Given the description of an element on the screen output the (x, y) to click on. 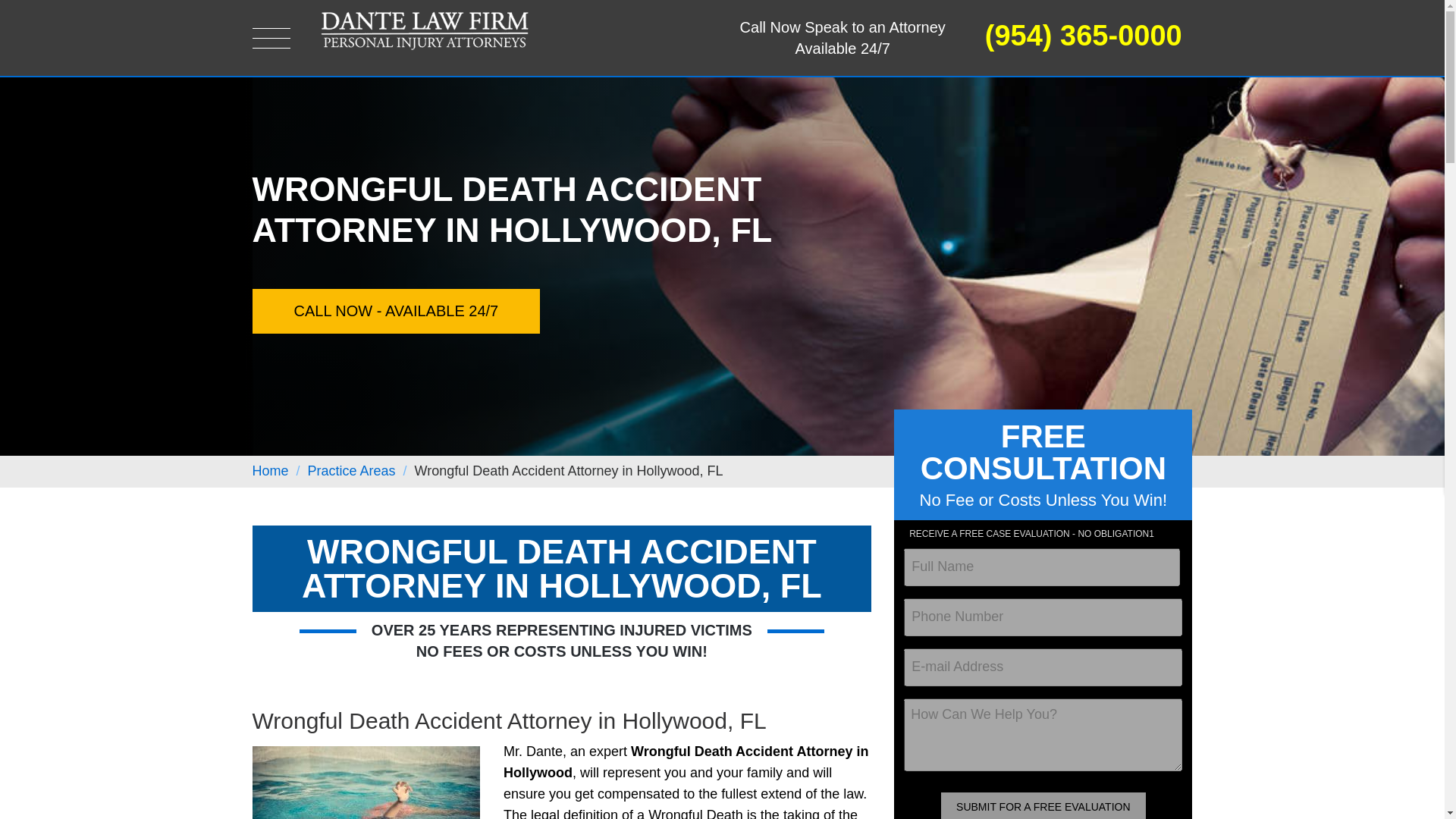
Dante Law Firm, P.A. (424, 29)
SUBMIT FOR A FREE EVALUATION (1042, 805)
Toggle navigation (270, 37)
